Given the description of an element on the screen output the (x, y) to click on. 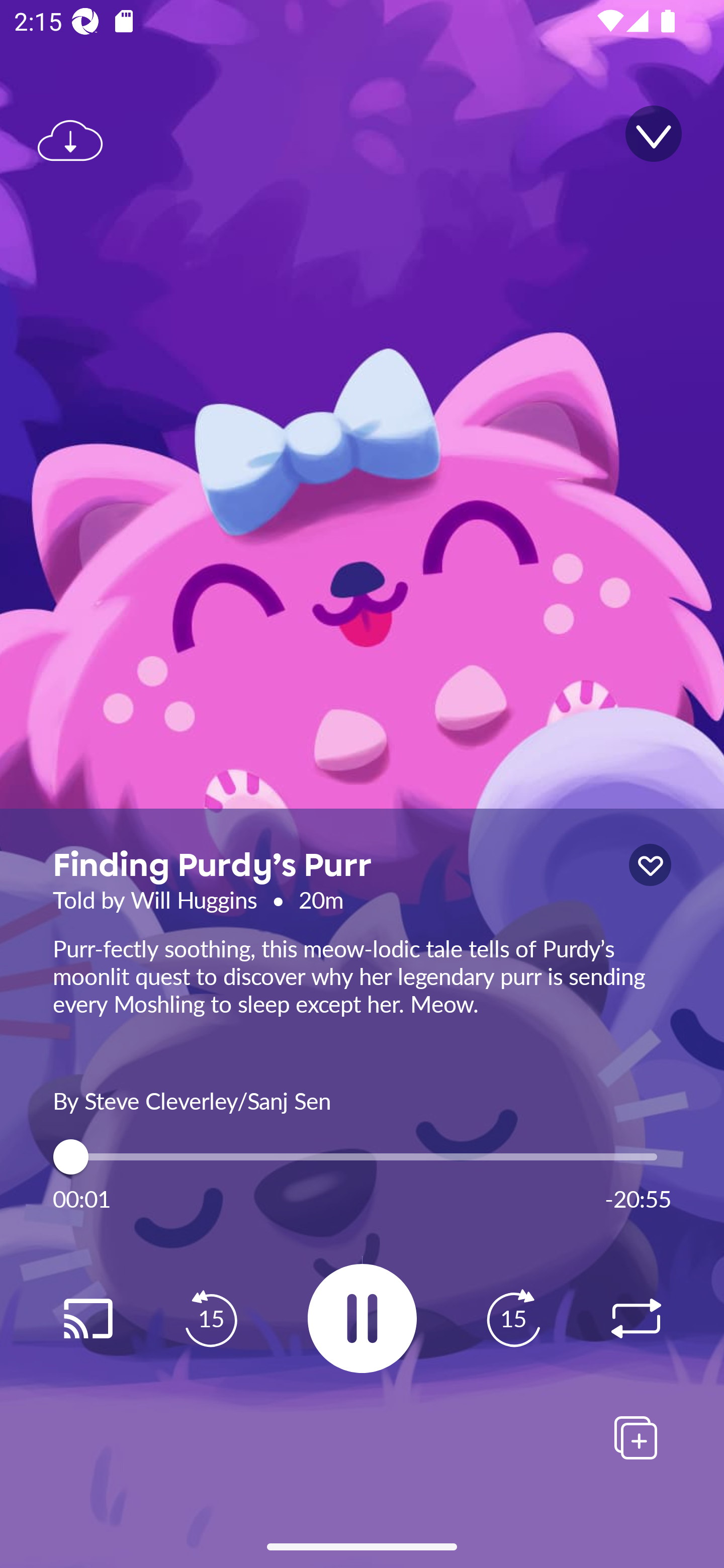
lock icon (650, 865)
By Steve Cleverley/Sanj Sen (361, 1098)
8.019093E-4 Pause (361, 1317)
Replay (87, 1318)
Replay 15 (210, 1318)
Replay 15 (513, 1318)
Replay (635, 1318)
Add To Playlists (635, 1437)
